Given the description of an element on the screen output the (x, y) to click on. 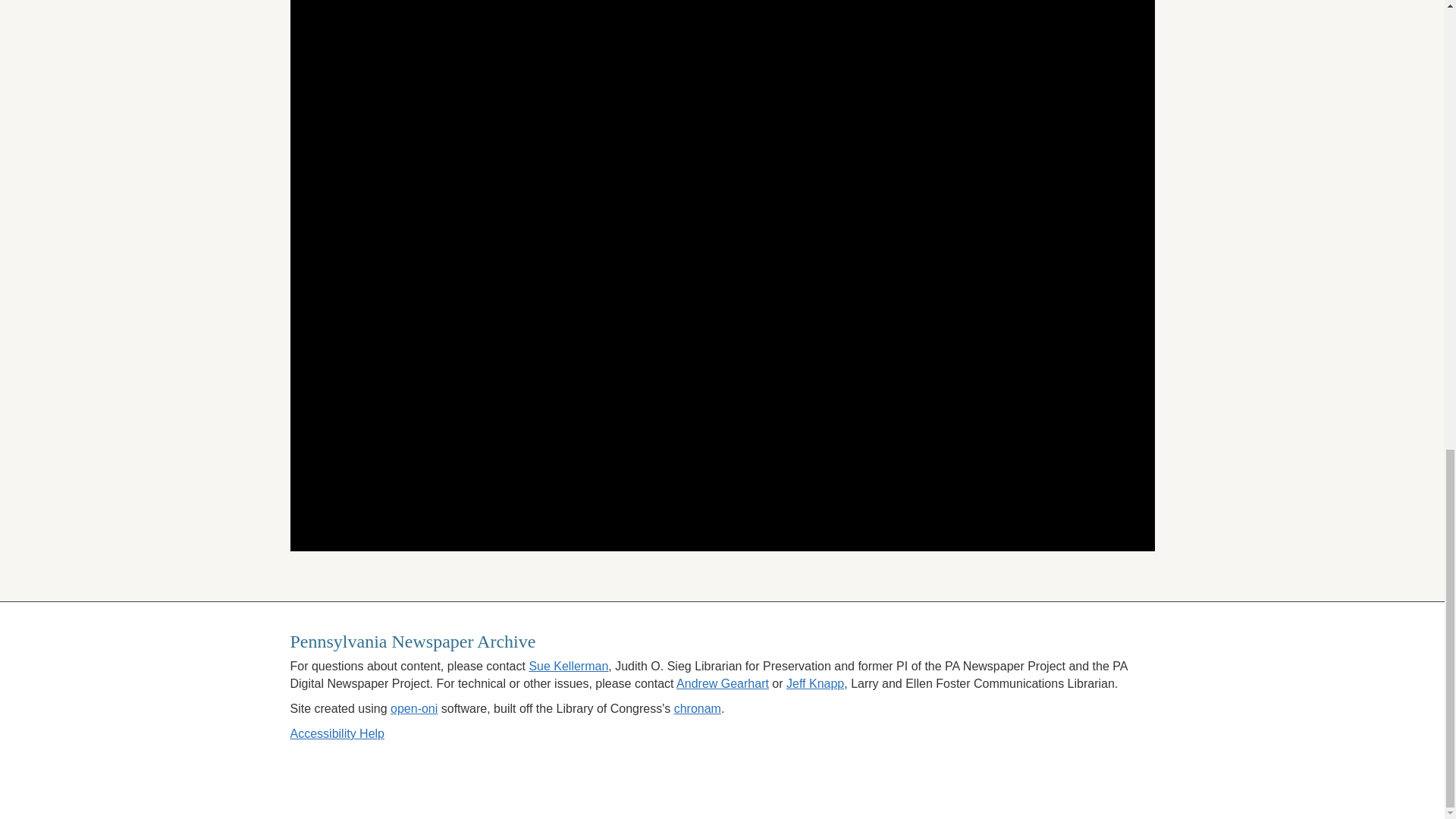
Andrew Gearhart (722, 683)
Sue Kellerman (568, 666)
Accessibility Help (336, 733)
Jeff Knapp (815, 683)
open-oni (414, 707)
chronam (697, 707)
